Given the description of an element on the screen output the (x, y) to click on. 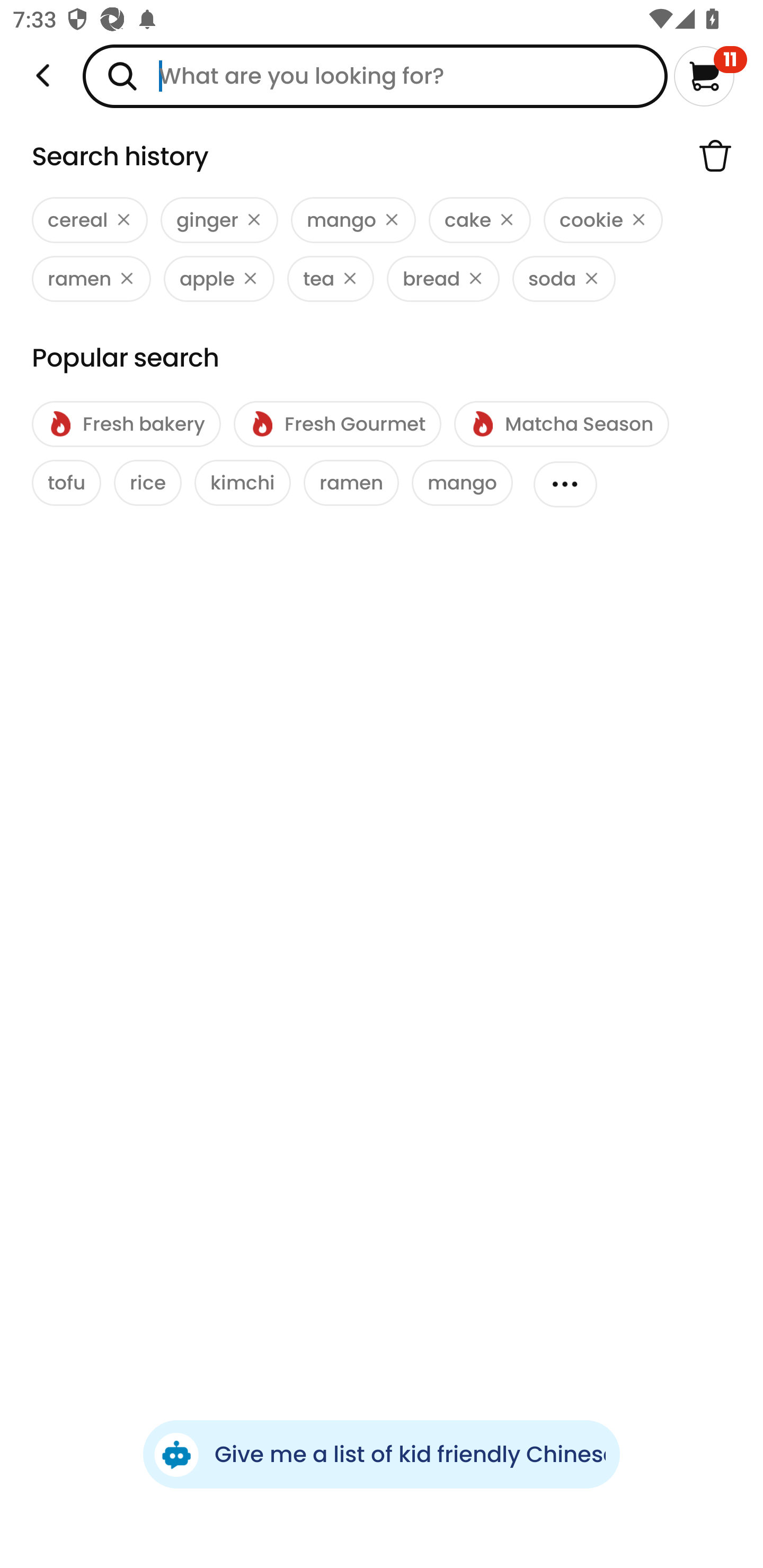
What are you looking for? (374, 75)
11 (709, 75)
Weee! (42, 76)
cereal (90, 220)
ginger (219, 220)
mango (352, 220)
cake (479, 220)
cookie (603, 220)
ramen (91, 278)
apple (219, 278)
tea (329, 278)
bread (442, 278)
soda (563, 278)
Fresh bakery (126, 423)
Fresh Gourmet (337, 423)
Matcha Season (561, 423)
tofu (66, 482)
rice (147, 482)
kimchi (242, 482)
ramen (351, 482)
mango (462, 482)
